Given the description of an element on the screen output the (x, y) to click on. 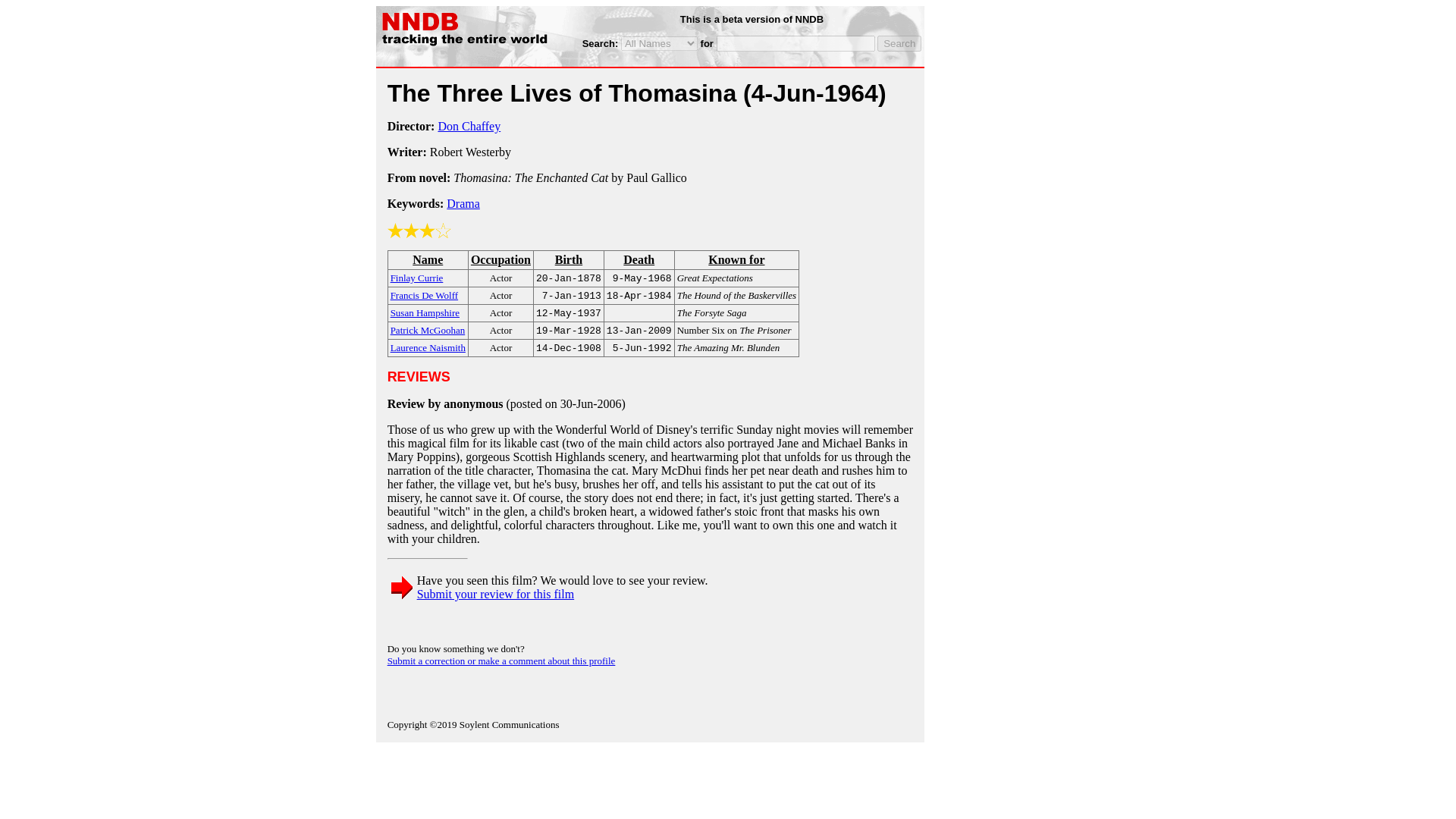
Name (427, 259)
Laurence Naismith (427, 346)
Francis De Wolff (424, 294)
Known for (736, 259)
Finlay Currie (417, 277)
Submit your review for this film (495, 594)
Death (639, 259)
Drama (463, 203)
Don Chaffey (469, 125)
Susan Hampshire (425, 311)
